Given the description of an element on the screen output the (x, y) to click on. 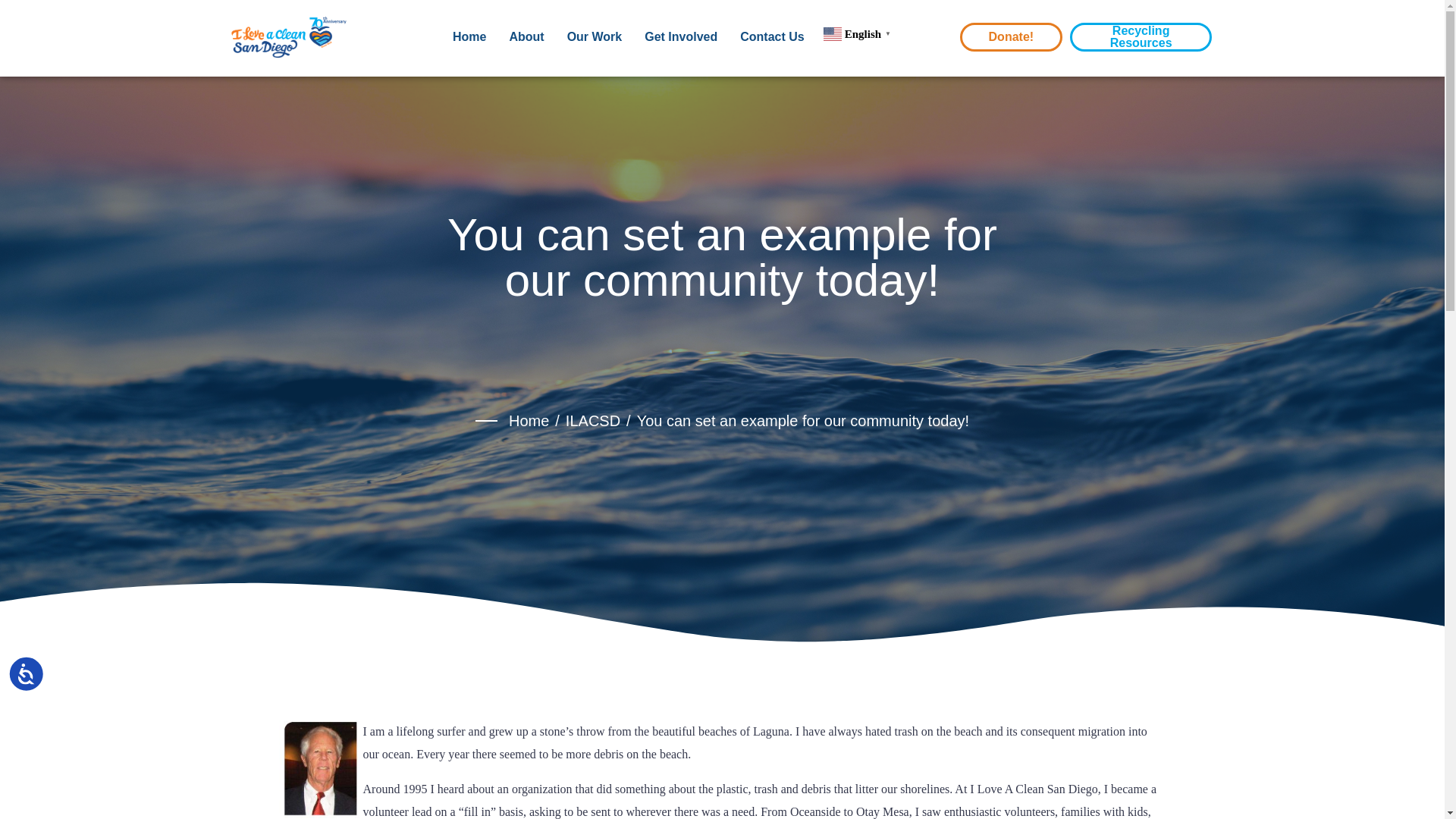
Our Work (595, 49)
Accessibility (41, 689)
About (525, 49)
Get Involved (681, 49)
